Given the description of an element on the screen output the (x, y) to click on. 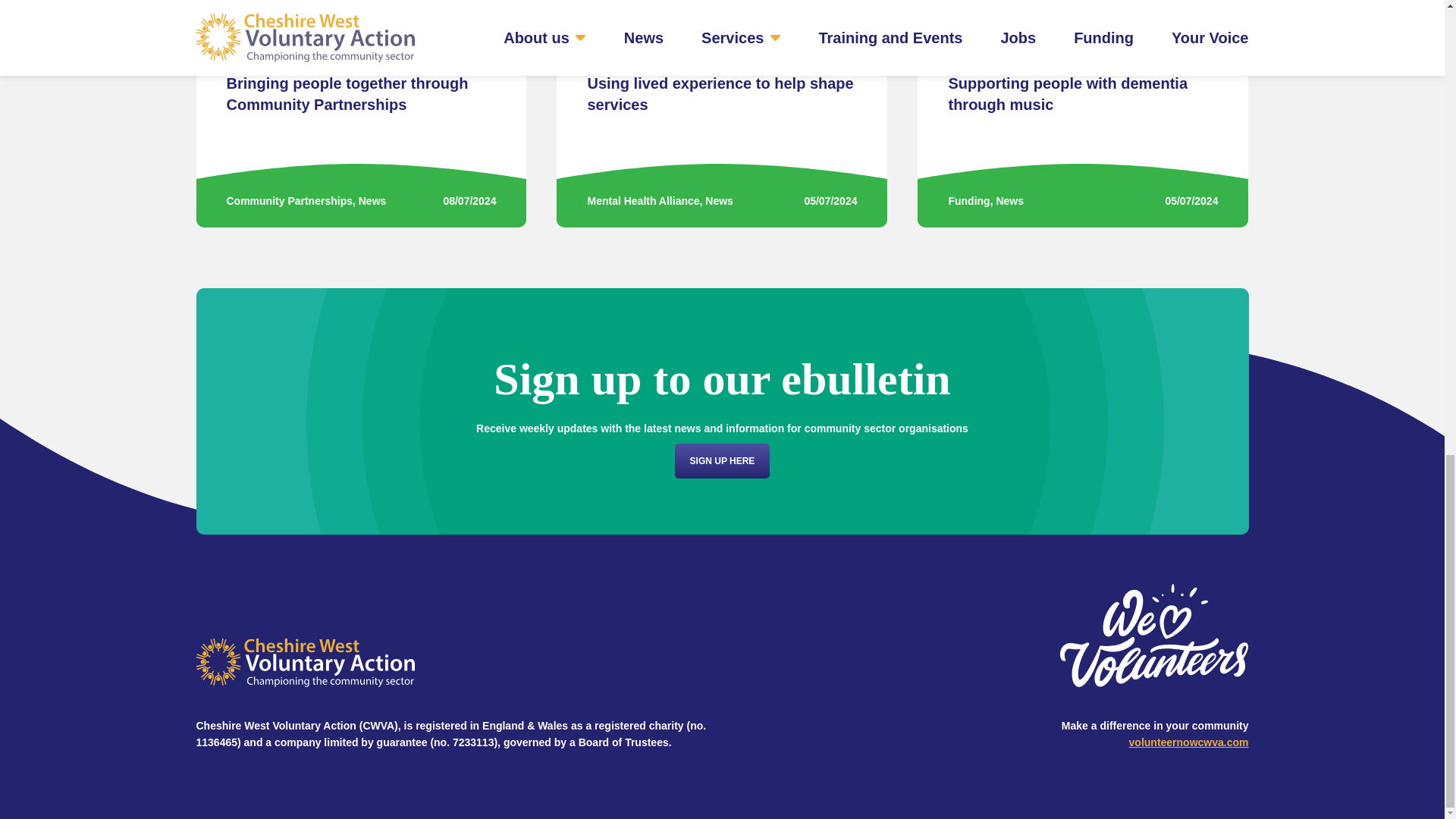
volunteernowcwva.com (1189, 742)
SIGN UP HERE (722, 460)
